Given the description of an element on the screen output the (x, y) to click on. 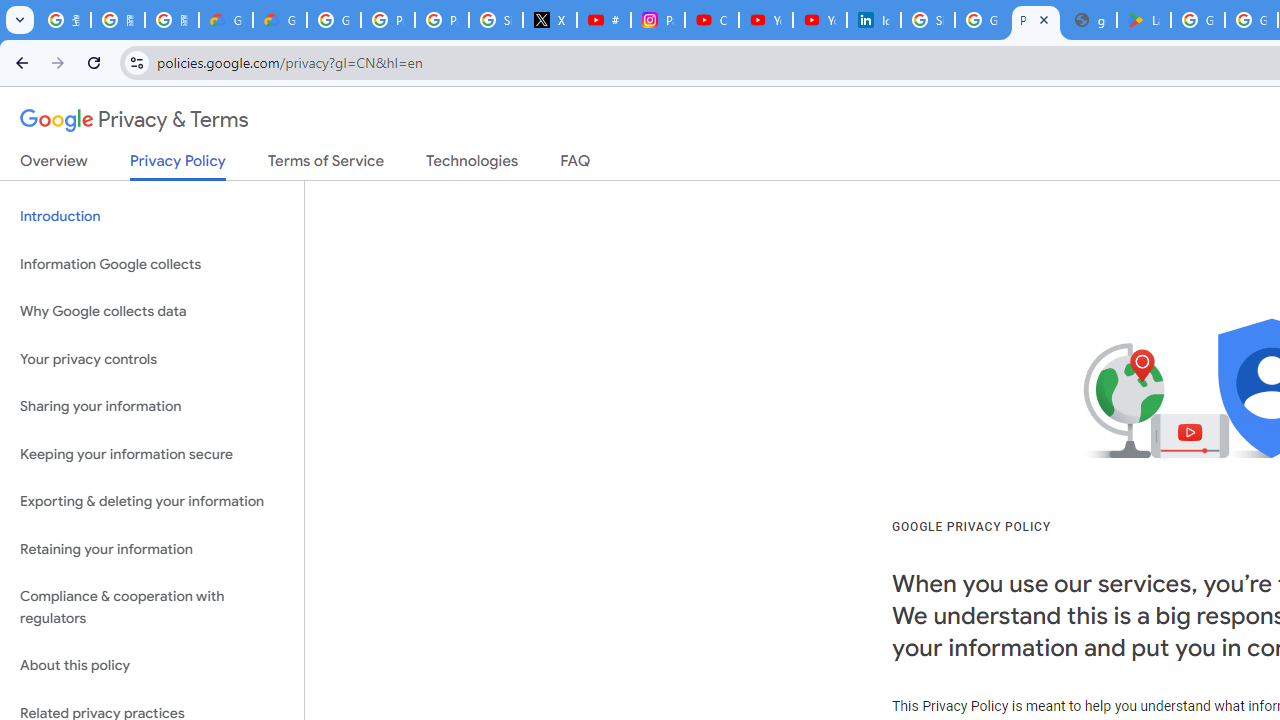
Google Cloud Privacy Notice (280, 20)
